Given the description of an element on the screen output the (x, y) to click on. 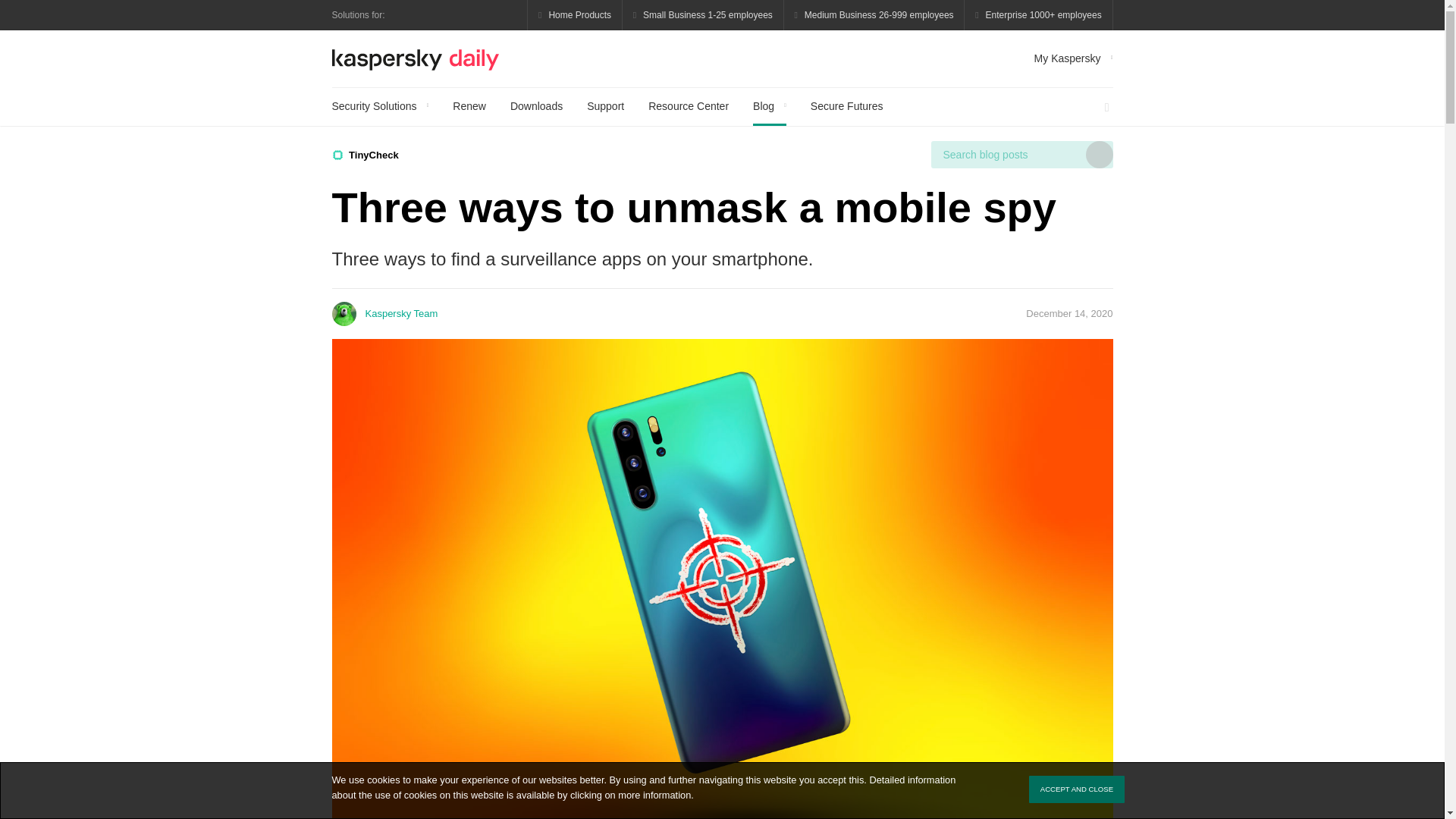
Support (605, 106)
Renew (469, 106)
font-icons icon-small-business (703, 15)
Blog (769, 106)
Resource Center (688, 106)
My Kaspersky (1073, 58)
Kaspersky official blog (415, 58)
Small Business 1-25 employees (703, 15)
Downloads (536, 106)
Security Solutions (380, 106)
Kaspersky official blog (415, 58)
Secure Futures (846, 106)
Medium Business 26-999 employees (874, 15)
Home Products (575, 15)
